Given the description of an element on the screen output the (x, y) to click on. 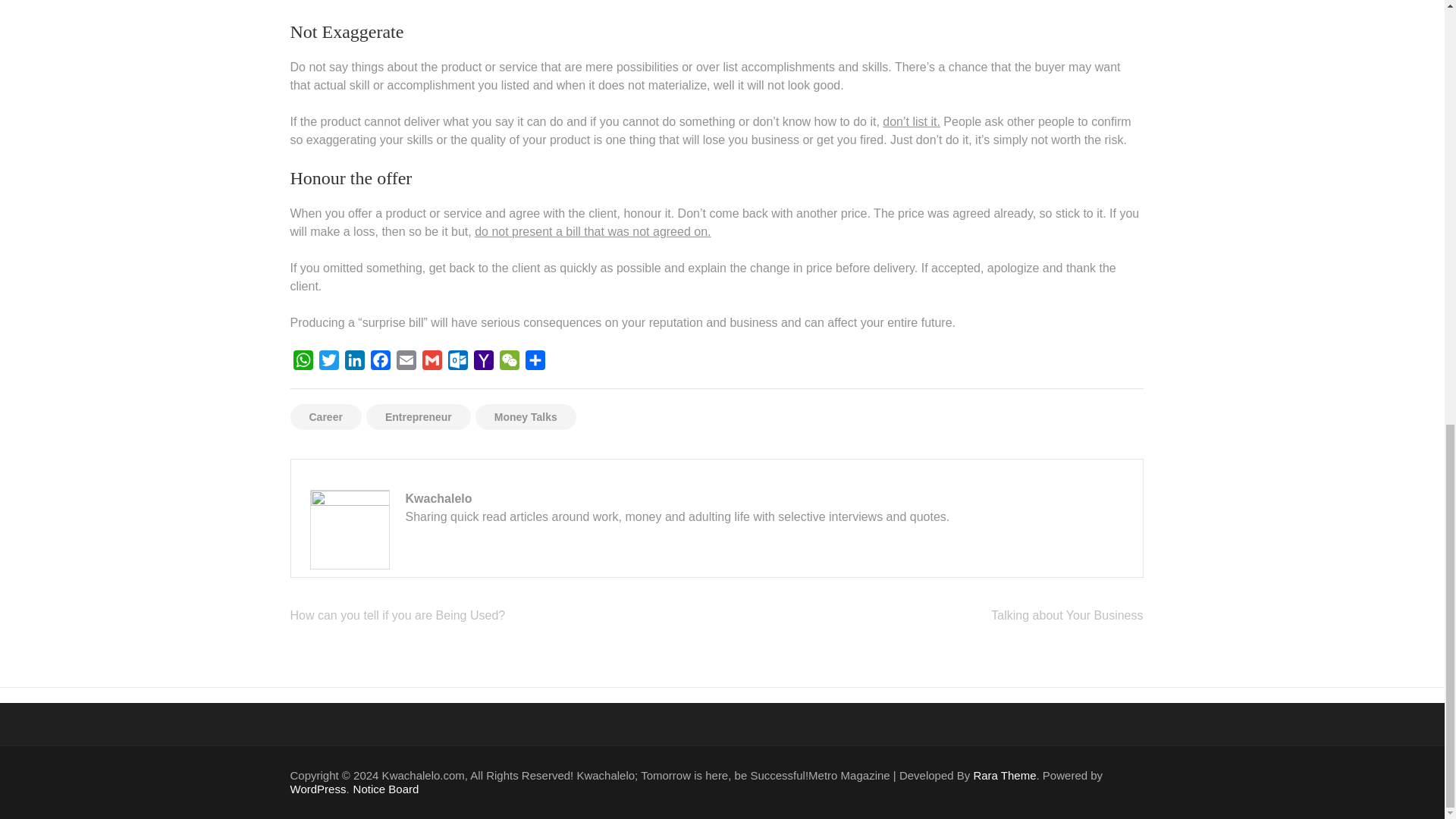
Twitter (327, 362)
LinkedIn (353, 362)
Outlook.com (457, 362)
Email (406, 362)
Facebook (379, 362)
Email (406, 362)
do not present a bill that was not agreed on. (592, 231)
WhatsApp (302, 362)
Yahoo Mail (483, 362)
Yahoo Mail (483, 362)
LinkedIn (353, 362)
Career (325, 416)
WeChat (508, 362)
Outlook.com (457, 362)
WhatsApp (302, 362)
